Given the description of an element on the screen output the (x, y) to click on. 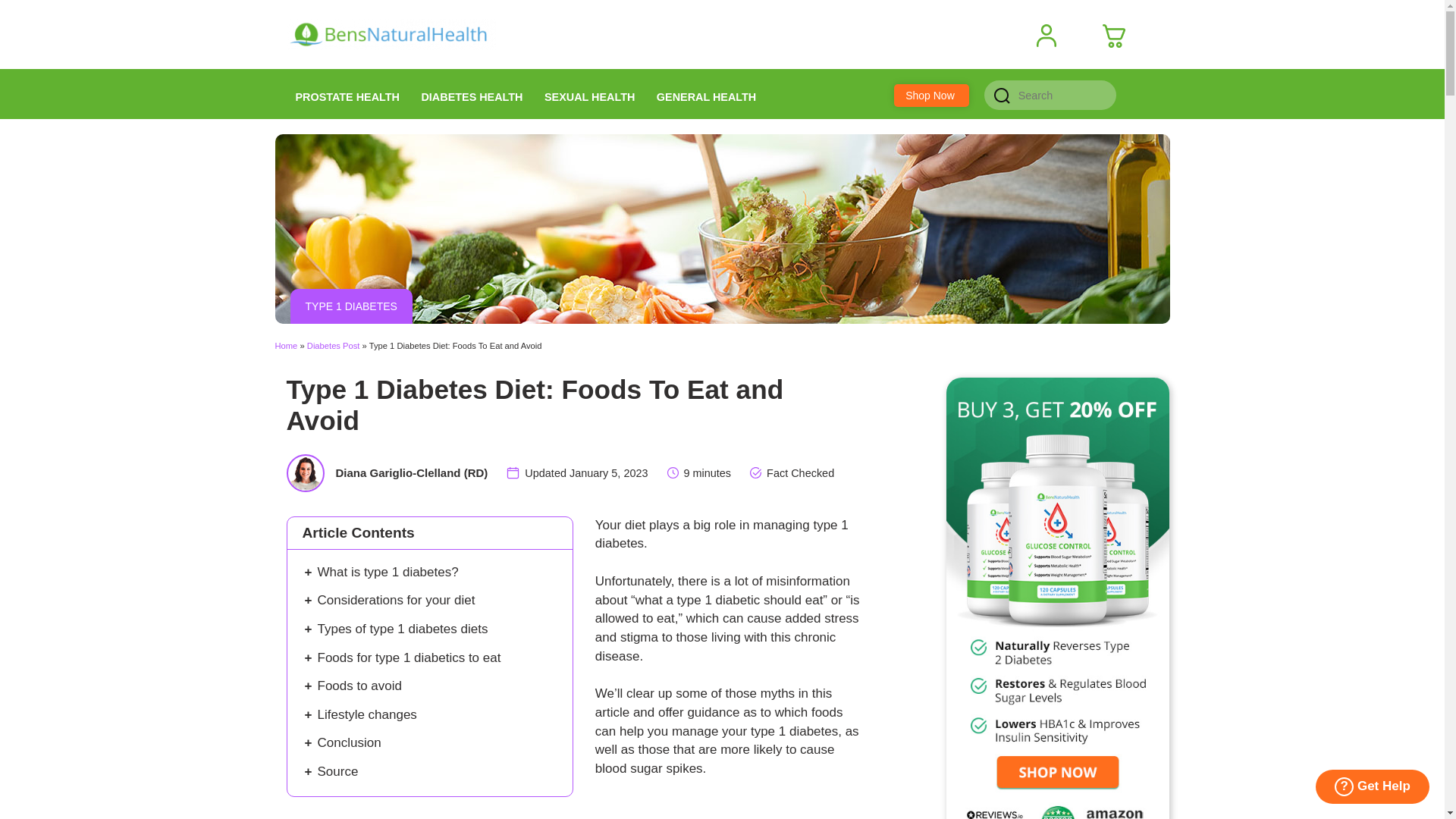
Lifestyle changes  (368, 714)
Source (337, 771)
Account (1053, 35)
My Cart (1118, 35)
What is type 1 diabetes? (387, 572)
Foods for type 1 diabetics to eat (408, 657)
Shop Now (930, 95)
Conclusion (348, 742)
Considerations for your diet (395, 599)
PROSTATE HEALTH (347, 93)
